Given the description of an element on the screen output the (x, y) to click on. 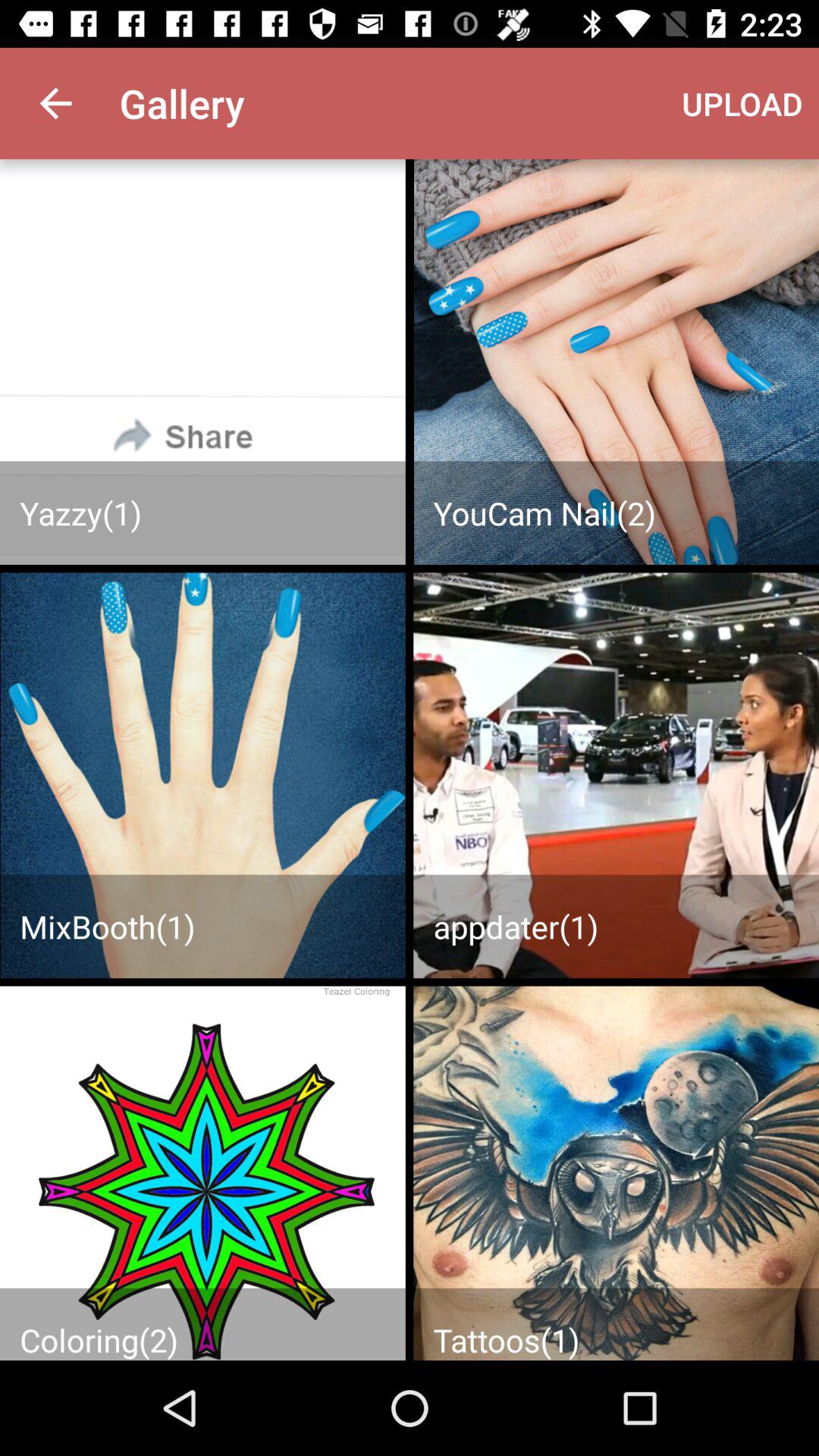
page (616, 775)
